Given the description of an element on the screen output the (x, y) to click on. 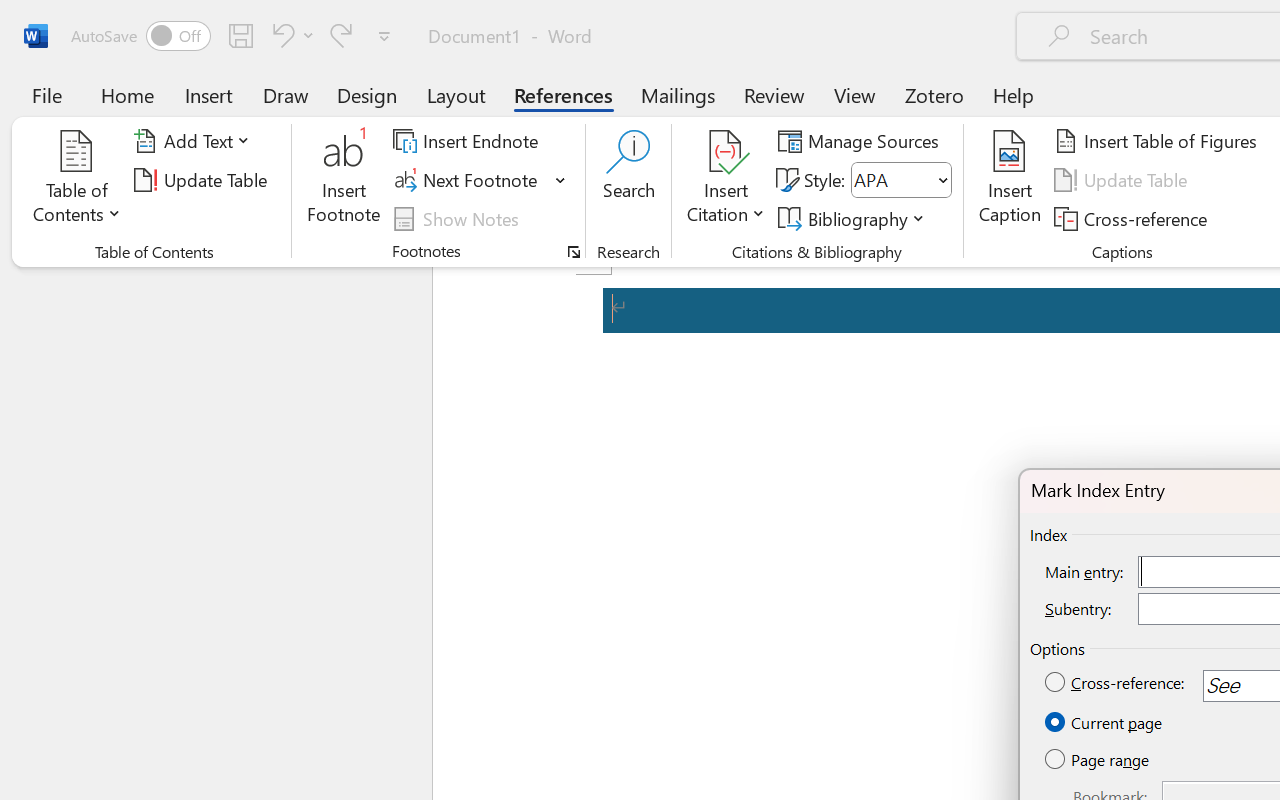
Insert Citation (726, 179)
Undo Apply Quick Style Set (290, 35)
Insert Endnote (468, 141)
Next Footnote (468, 179)
Update Table (1124, 179)
Bibliography (854, 218)
Cross-reference... (1133, 218)
Update Table... (204, 179)
Insert Footnote (344, 179)
